Given the description of an element on the screen output the (x, y) to click on. 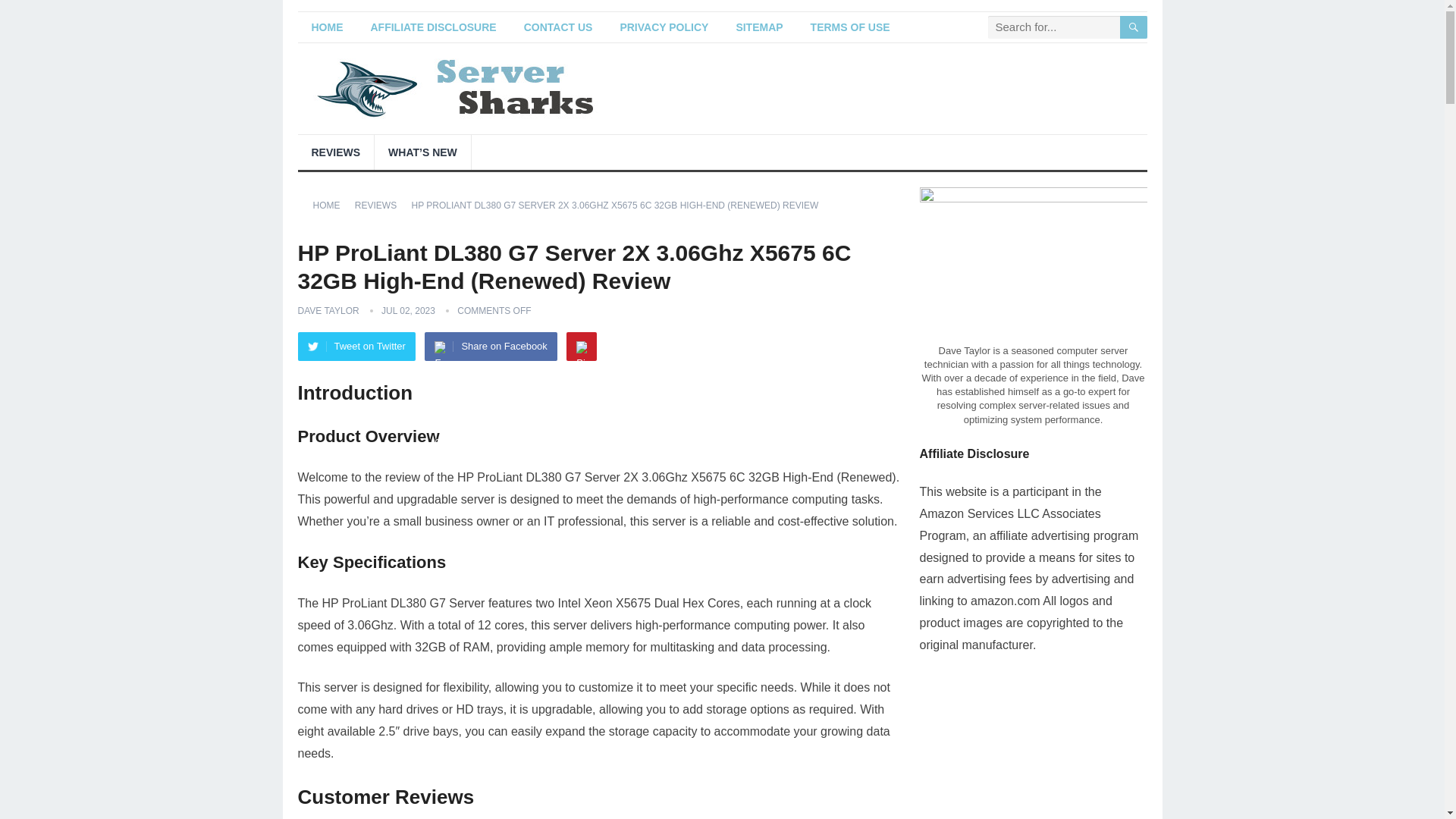
HOME (326, 27)
REVIEWS (381, 204)
Tweet on Twitter (355, 346)
SITEMAP (759, 27)
Pinterest (581, 346)
Share on Facebook (490, 346)
DAVE TAYLOR (327, 310)
PRIVACY POLICY (663, 27)
Posts by Dave Taylor (327, 310)
CONTACT US (559, 27)
